Given the description of an element on the screen output the (x, y) to click on. 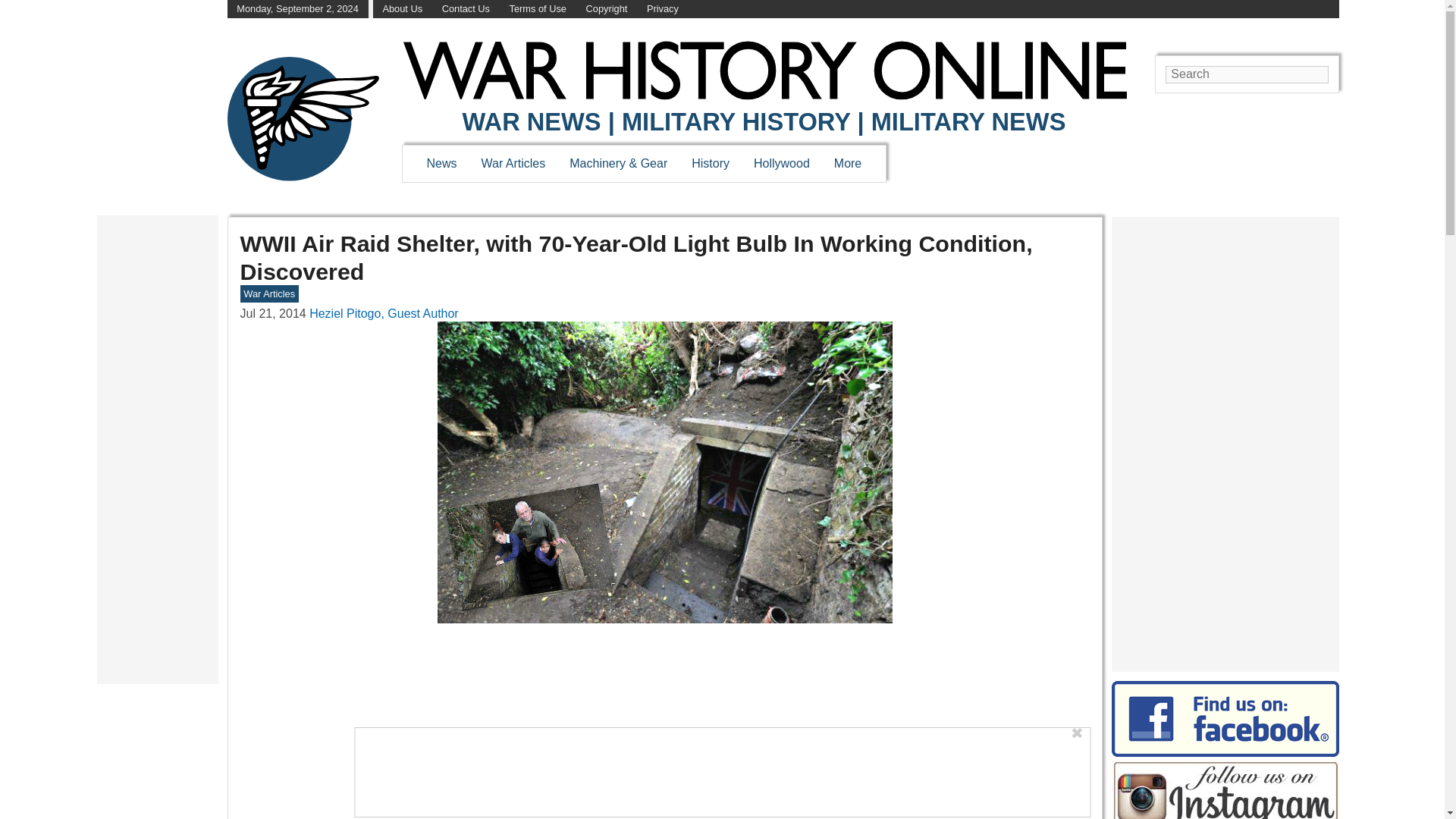
About Us (401, 8)
History (710, 163)
War Articles (513, 163)
Privacy (662, 8)
Hollywood (781, 163)
More (847, 163)
News (441, 163)
Terms of Use (537, 8)
Copyright (606, 8)
Contact Us (465, 8)
